Given the description of an element on the screen output the (x, y) to click on. 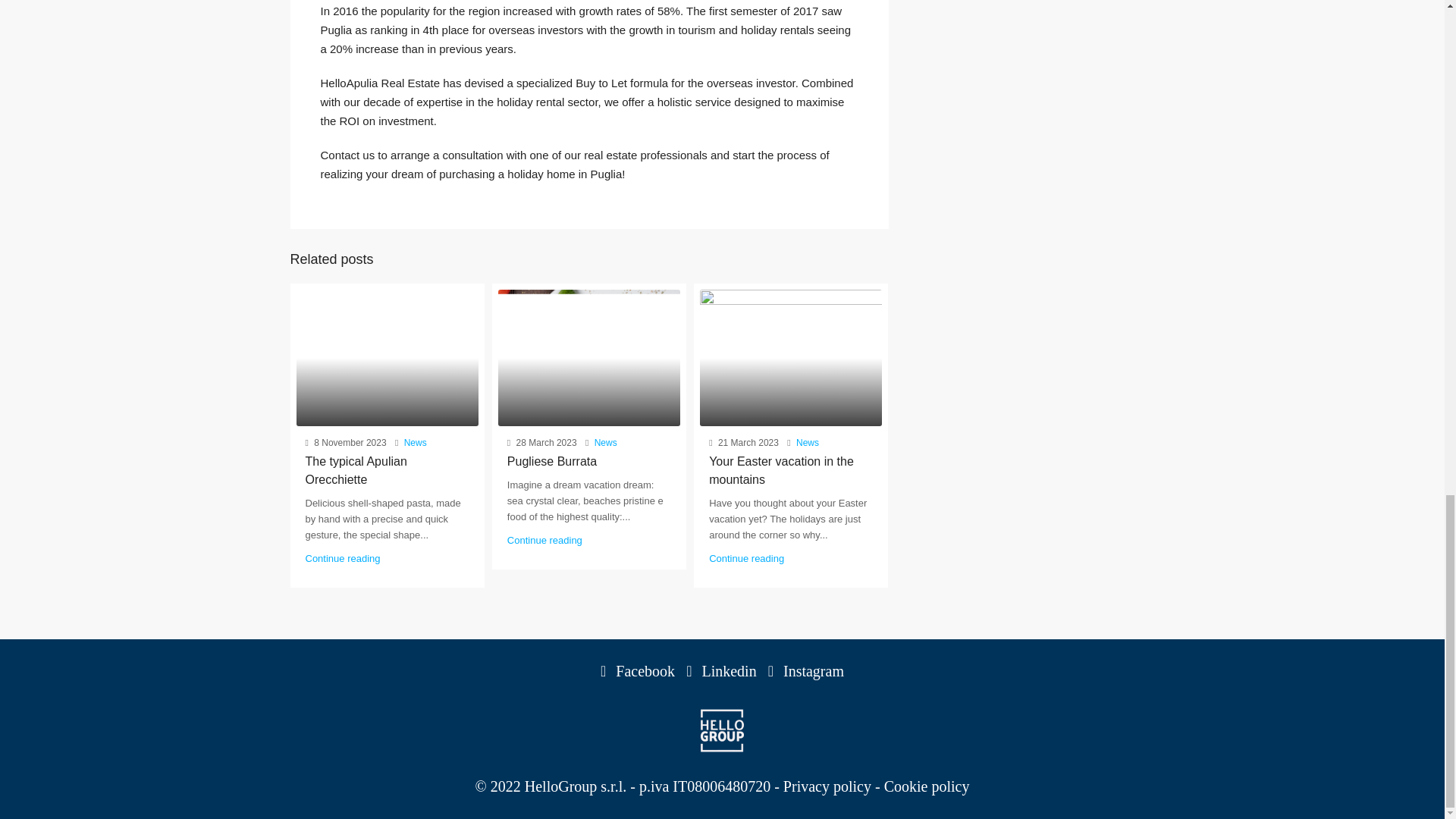
Pugliese Burrata (551, 461)
The typical Apulian Orecchiette (355, 470)
Your Easter vacation in the mountains (781, 470)
News (807, 442)
News (605, 442)
News (415, 442)
Continue reading (342, 558)
Continue reading (544, 540)
